Given the description of an element on the screen output the (x, y) to click on. 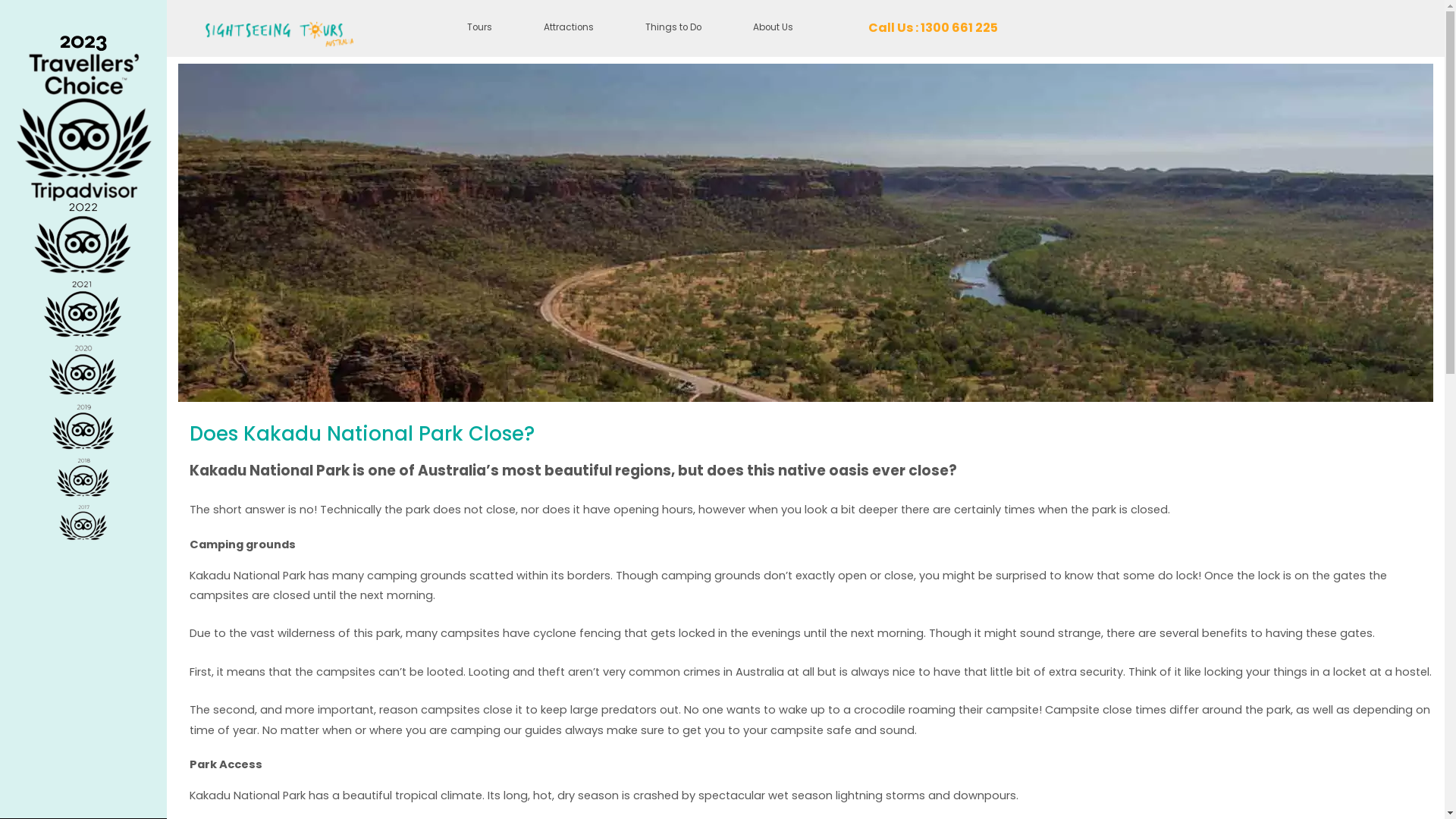
Things to Do Element type: text (673, 28)
Call Us : 1300 661 225 Element type: text (932, 28)
Attractions Element type: text (568, 28)
Tours Element type: text (479, 28)
About Us Element type: text (773, 28)
